Given the description of an element on the screen output the (x, y) to click on. 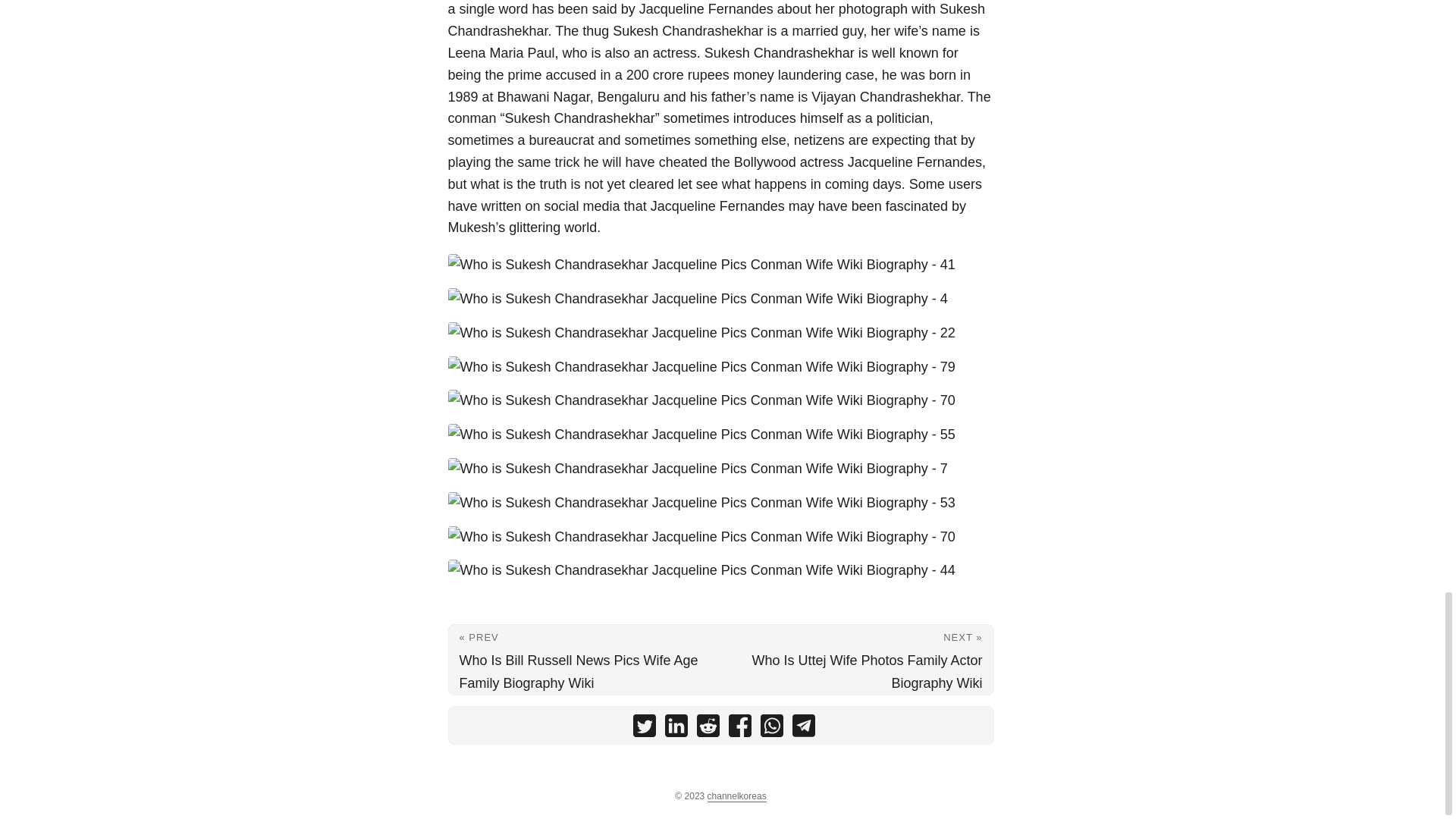
channelkoreas (737, 796)
